Given the description of an element on the screen output the (x, y) to click on. 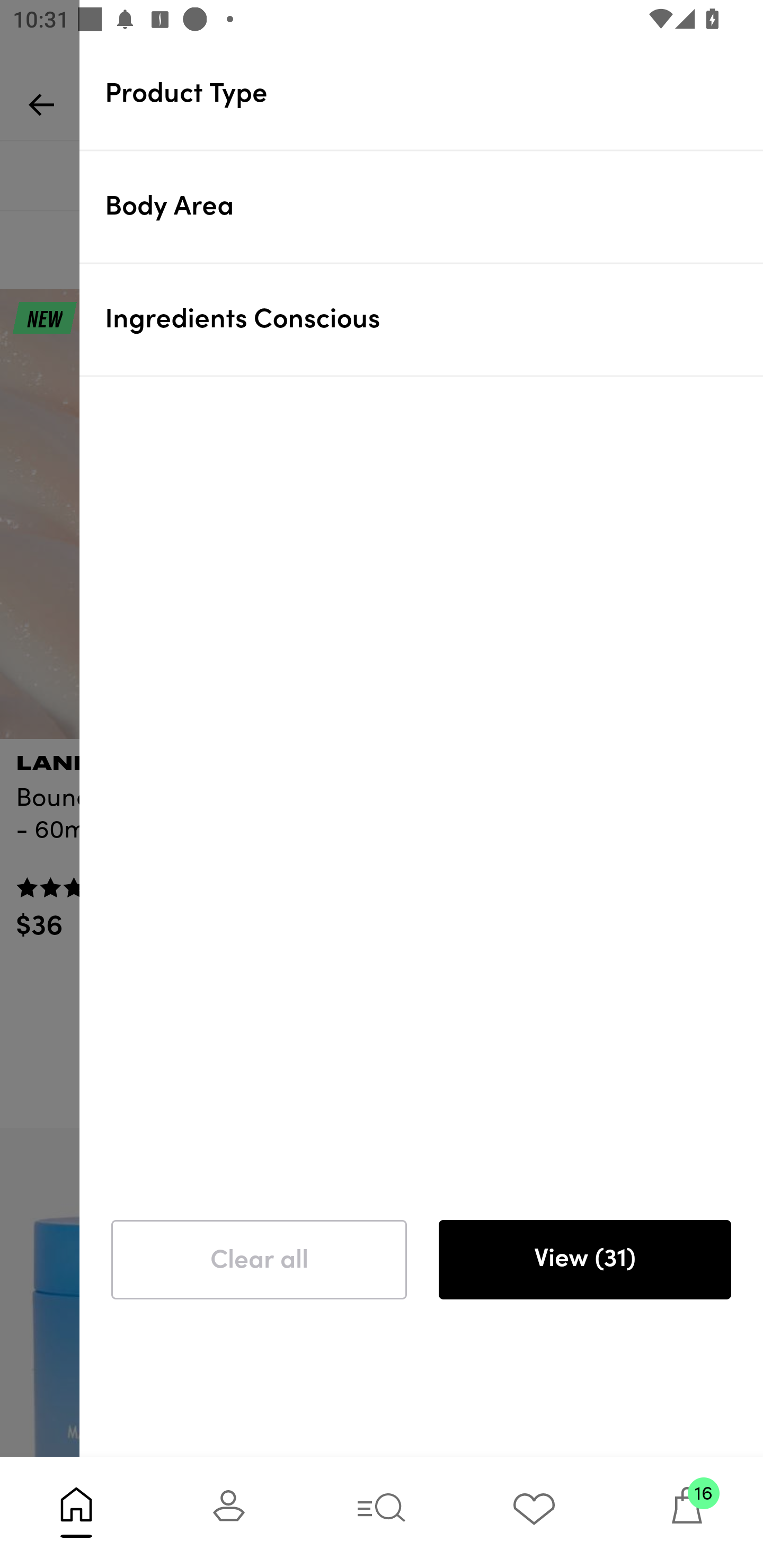
Product Type (434, 92)
Body Area (434, 205)
Ingredients Conscious (434, 318)
Clear all (258, 1259)
View (31) (584, 1259)
16 (686, 1512)
